Given the description of an element on the screen output the (x, y) to click on. 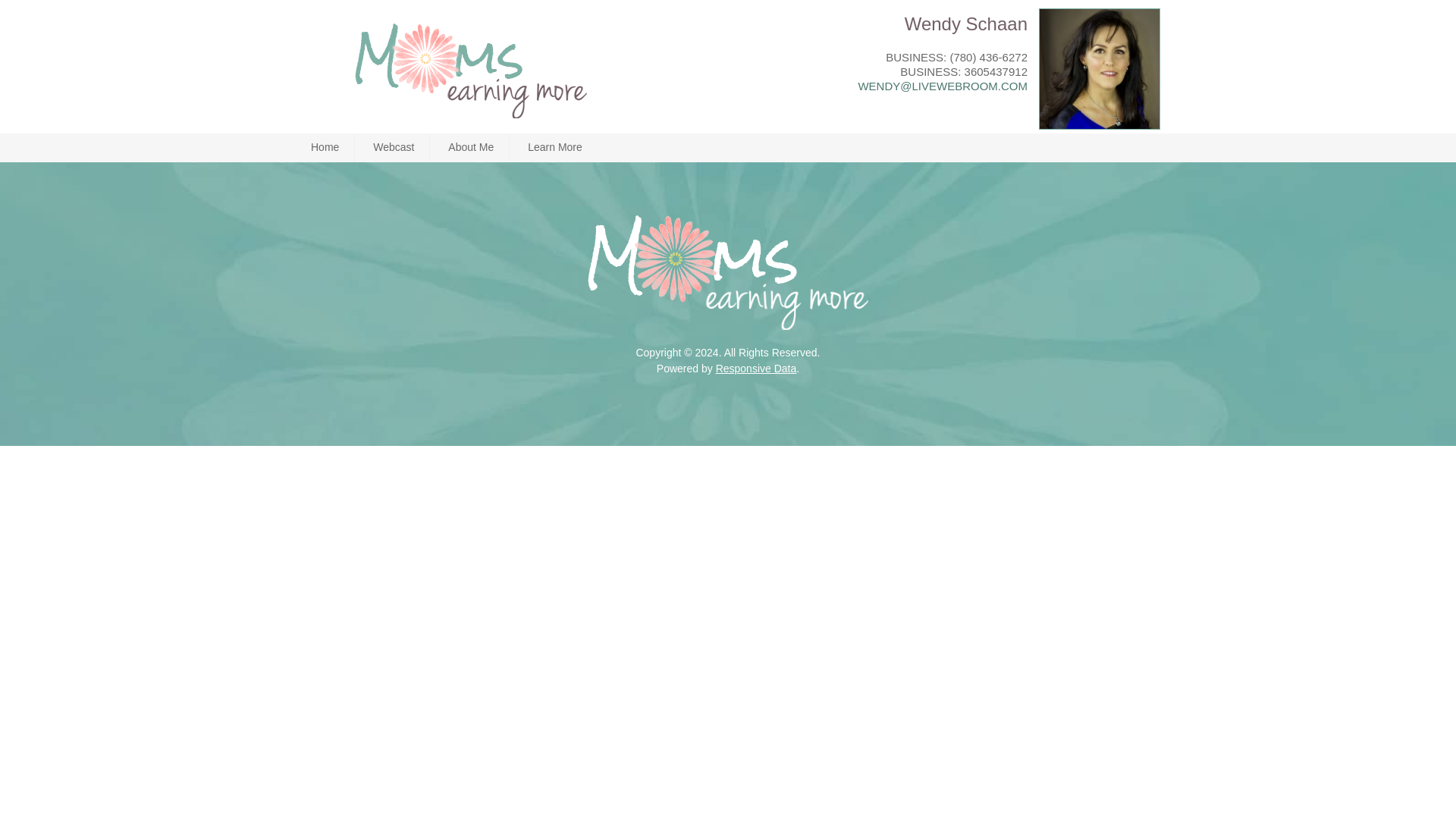
Responsive Data (756, 368)
